Given the description of an element on the screen output the (x, y) to click on. 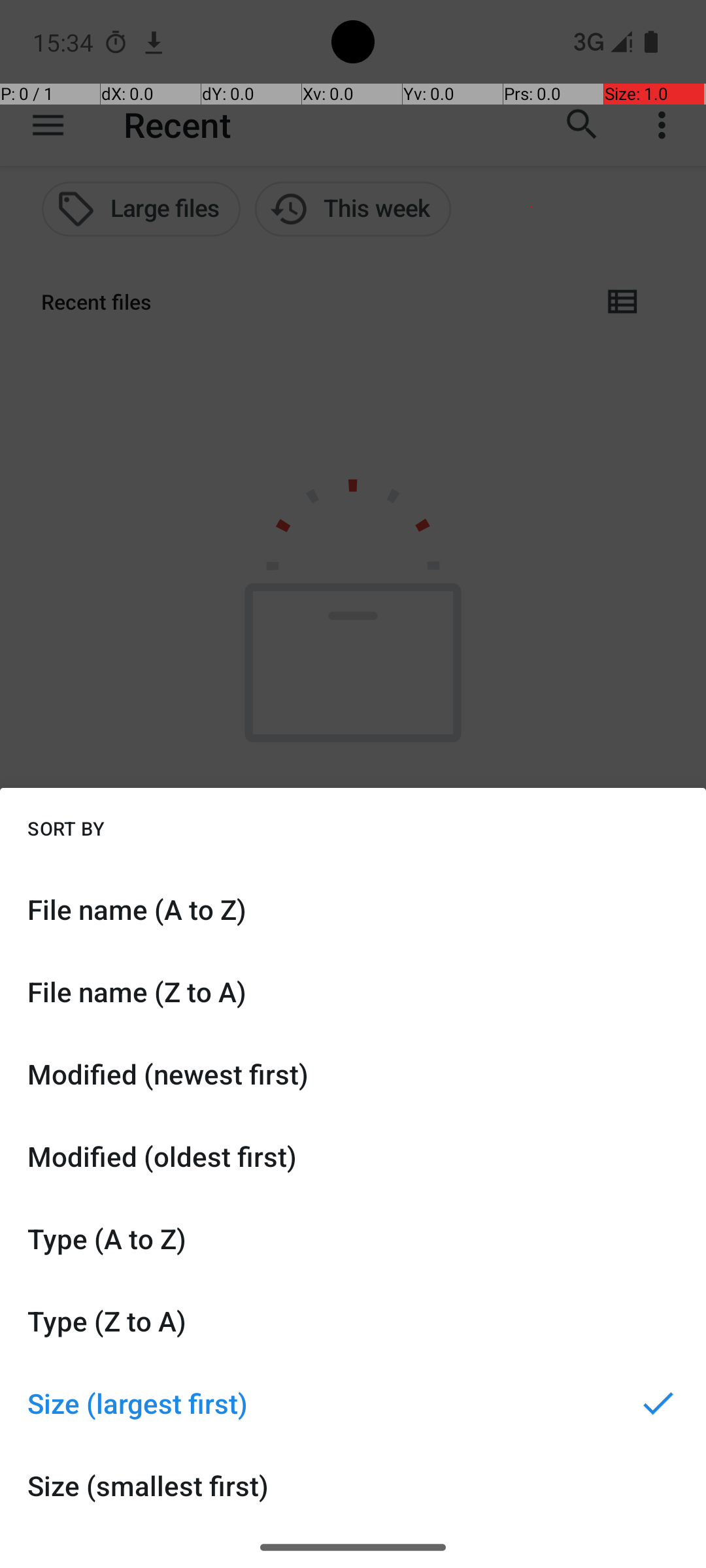
SORT BY Element type: android.widget.TextView (66, 827)
File name (A to Z) Element type: android.widget.CheckedTextView (353, 909)
File name (Z to A) Element type: android.widget.CheckedTextView (353, 991)
Modified (newest first) Element type: android.widget.CheckedTextView (353, 1073)
Modified (oldest first) Element type: android.widget.CheckedTextView (353, 1156)
Type (A to Z) Element type: android.widget.CheckedTextView (353, 1238)
Type (Z to A) Element type: android.widget.CheckedTextView (353, 1320)
Size (largest first) Element type: android.widget.CheckedTextView (353, 1403)
Size (smallest first) Element type: android.widget.CheckedTextView (353, 1485)
Chrome notification: www.espn.com Element type: android.widget.ImageView (153, 41)
